Given the description of an element on the screen output the (x, y) to click on. 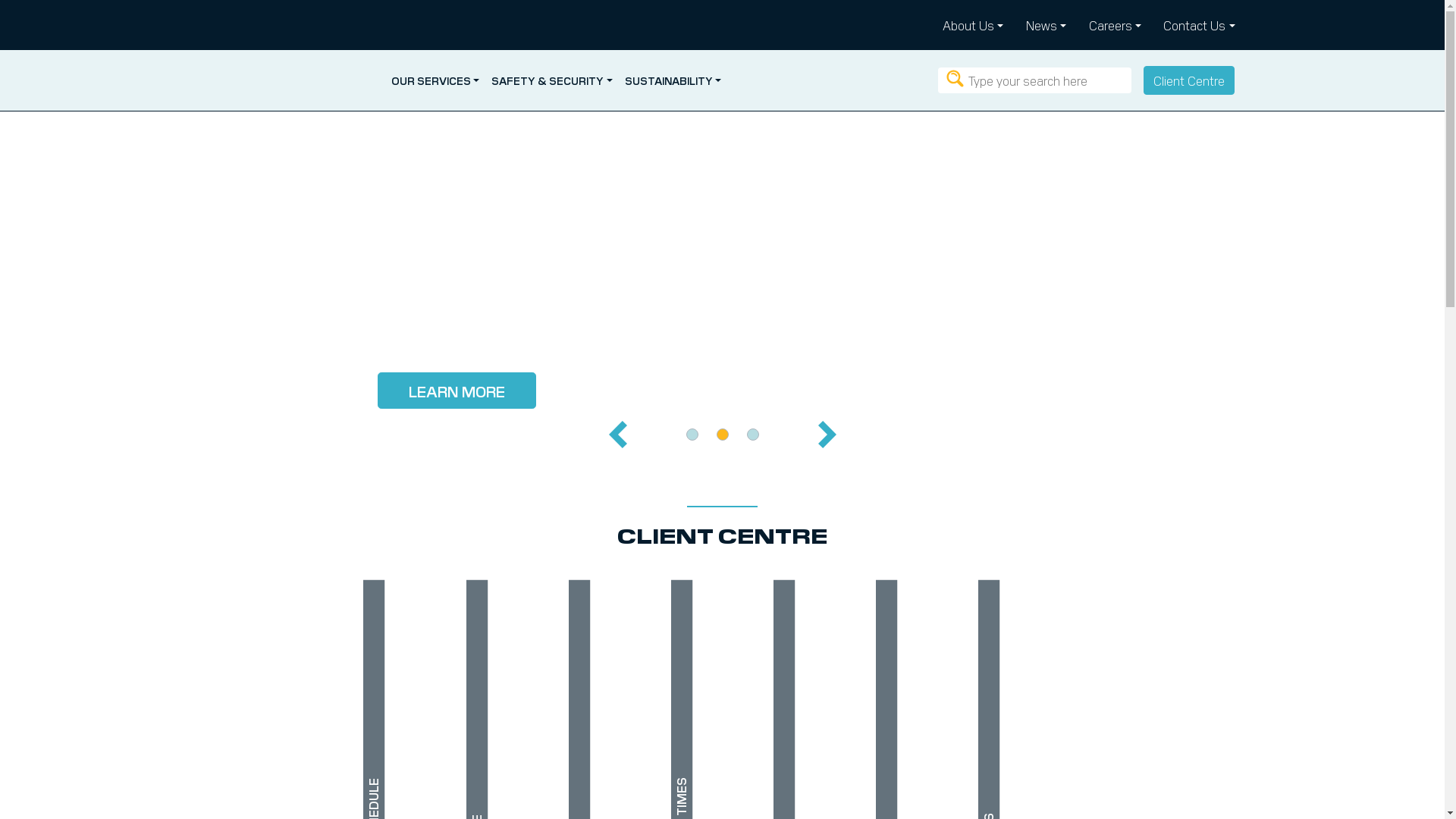
RAIL INFORMATION Element type: text (955, 596)
Careers Element type: text (1114, 24)
Contact Us Element type: text (1195, 24)
News Element type: text (1045, 24)
GATE RESERVATIONS Element type: text (1058, 596)
LEARN MORE Element type: text (395, 390)
GATE / ERD SCHEDULE Element type: text (648, 596)
SUSTAINABILITY Element type: text (673, 80)
HELPFUL DOCUMENTS Element type: text (1160, 596)
VESSEL & BERTH SCHEDULE Element type: text (545, 596)
TRUCK TURNAROUND TIMES Element type: text (853, 596)
About Us Element type: text (972, 24)
Client Centre Element type: text (1188, 79)
SAFETY & SECURITY Element type: text (551, 80)
OUR SERVICES Element type: text (435, 80)
DP World Element type: text (271, 80)
WHERE'S MY CARGO Element type: text (751, 596)
